Given the description of an element on the screen output the (x, y) to click on. 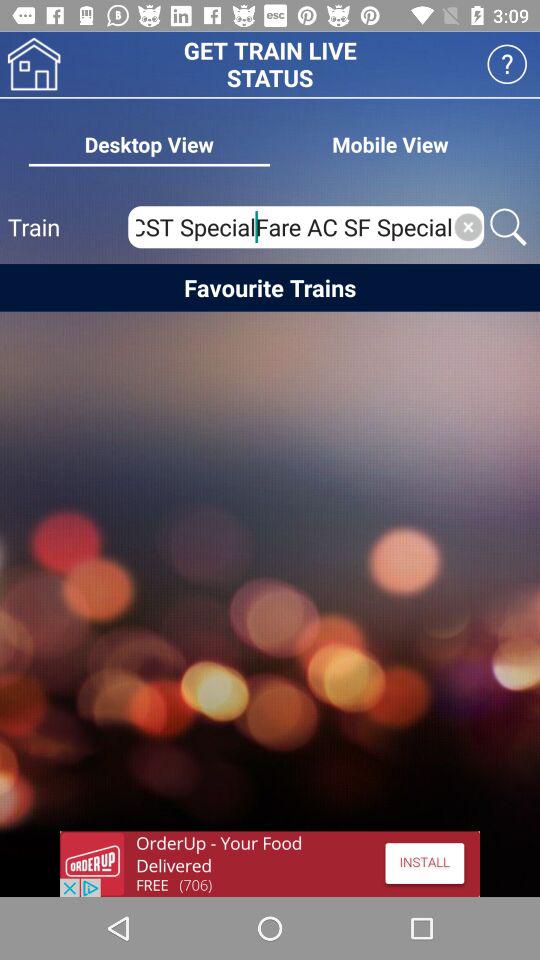
click x button (468, 227)
